Given the description of an element on the screen output the (x, y) to click on. 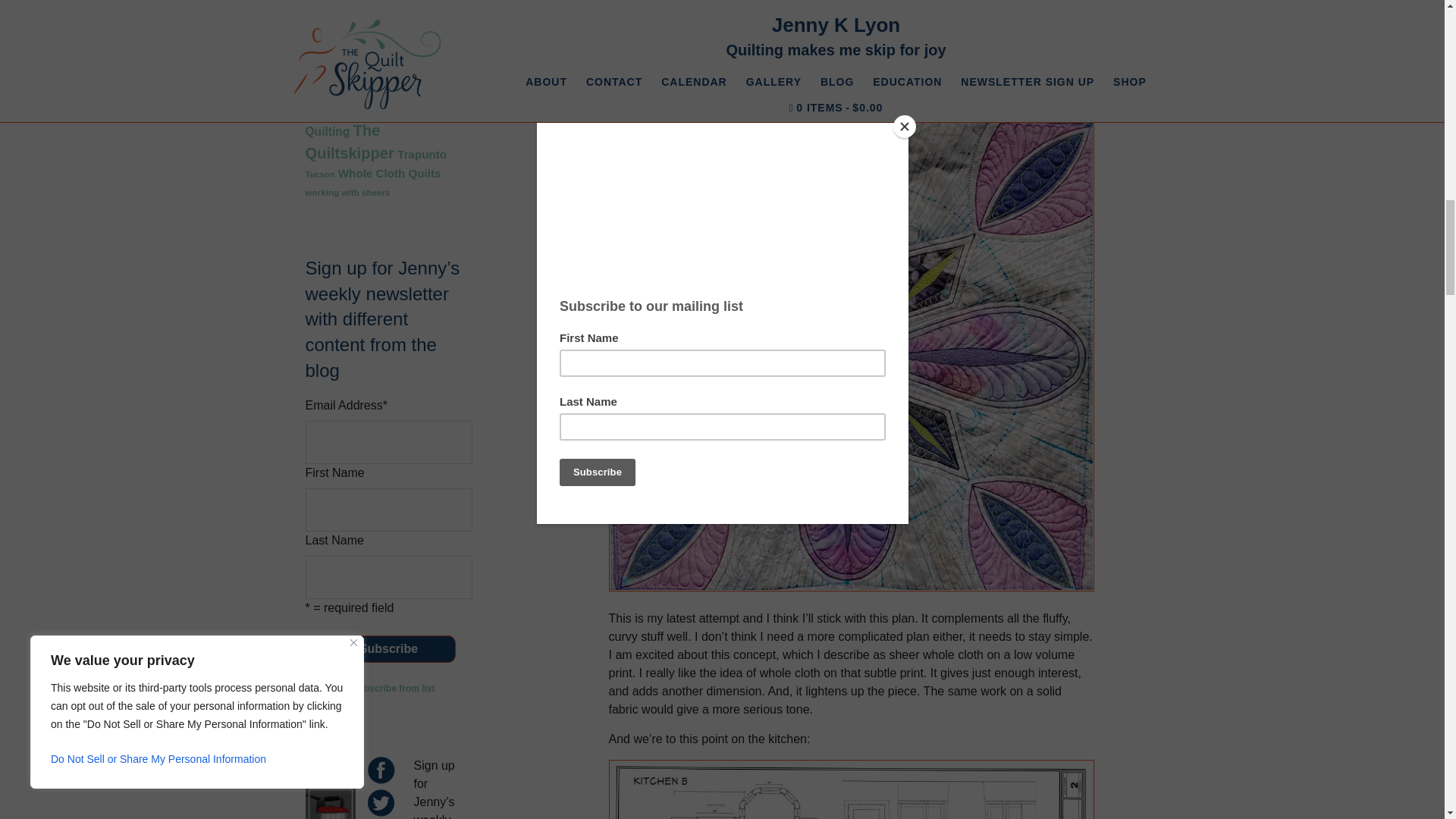
Subscribe (387, 648)
